Given the description of an element on the screen output the (x, y) to click on. 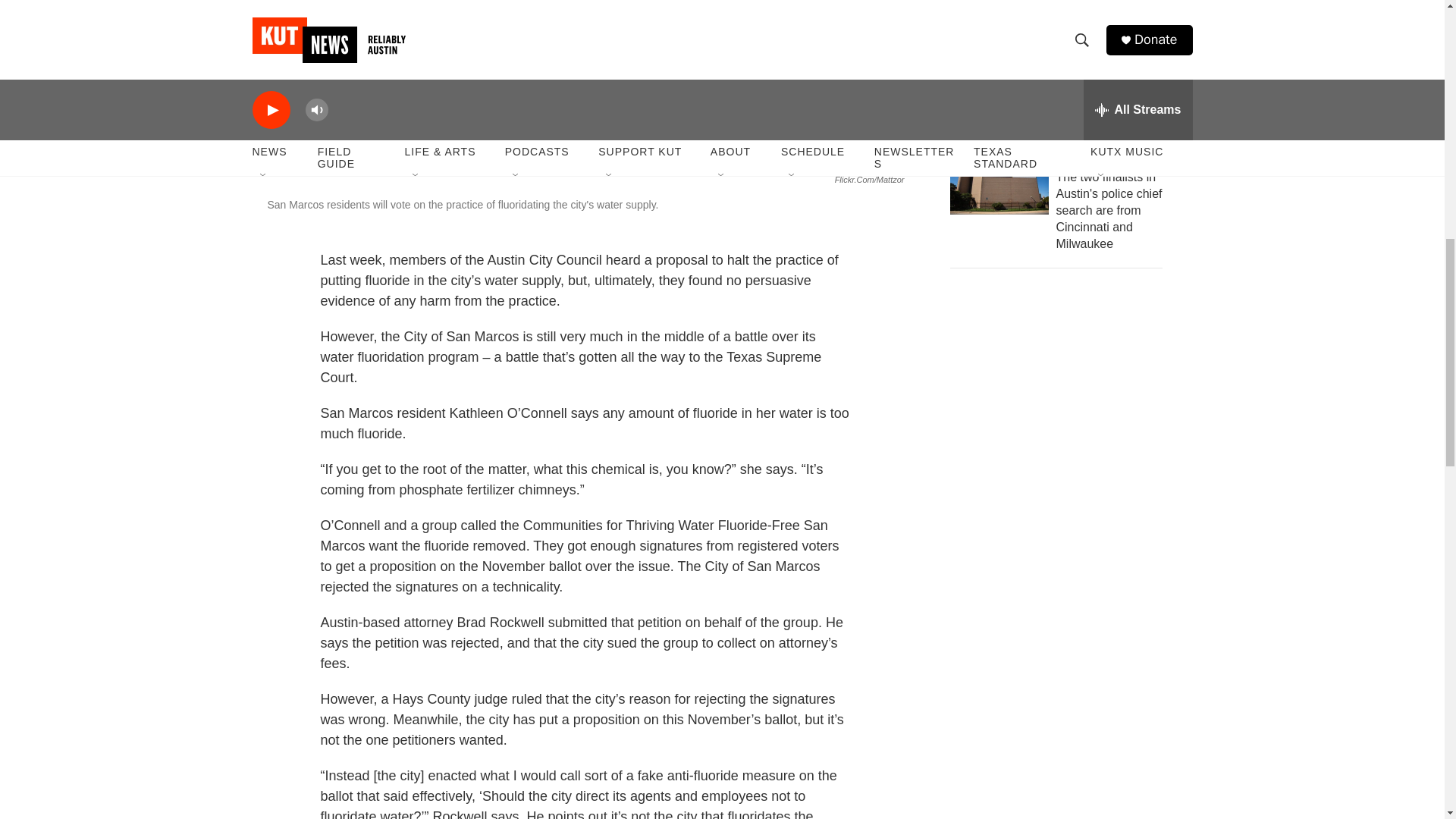
3rd party ad content (1062, 613)
3rd party ad content (1062, 393)
